Given the description of an element on the screen output the (x, y) to click on. 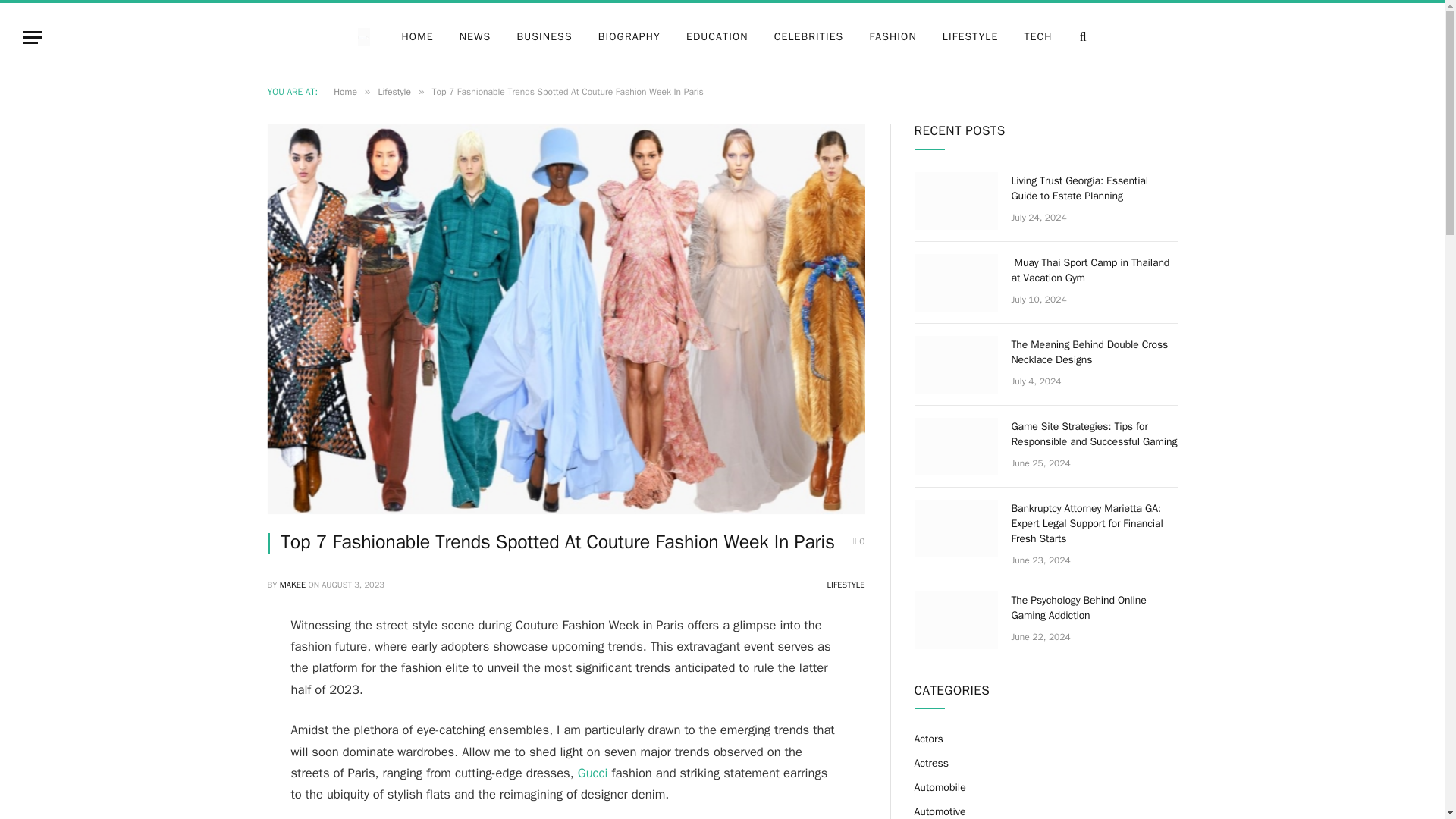
2023-08-03 (352, 584)
LIFESTYLE (970, 37)
EDUCATION (716, 37)
CELEBRITIES (809, 37)
MAKEE (292, 584)
HOME (416, 37)
0 (858, 541)
Living Trust Georgia: Essential Guide to Estate Planning (955, 200)
Makeeover (373, 36)
TECH (1037, 37)
BUSINESS (544, 37)
Search (1081, 36)
FASHION (892, 37)
